Given the description of an element on the screen output the (x, y) to click on. 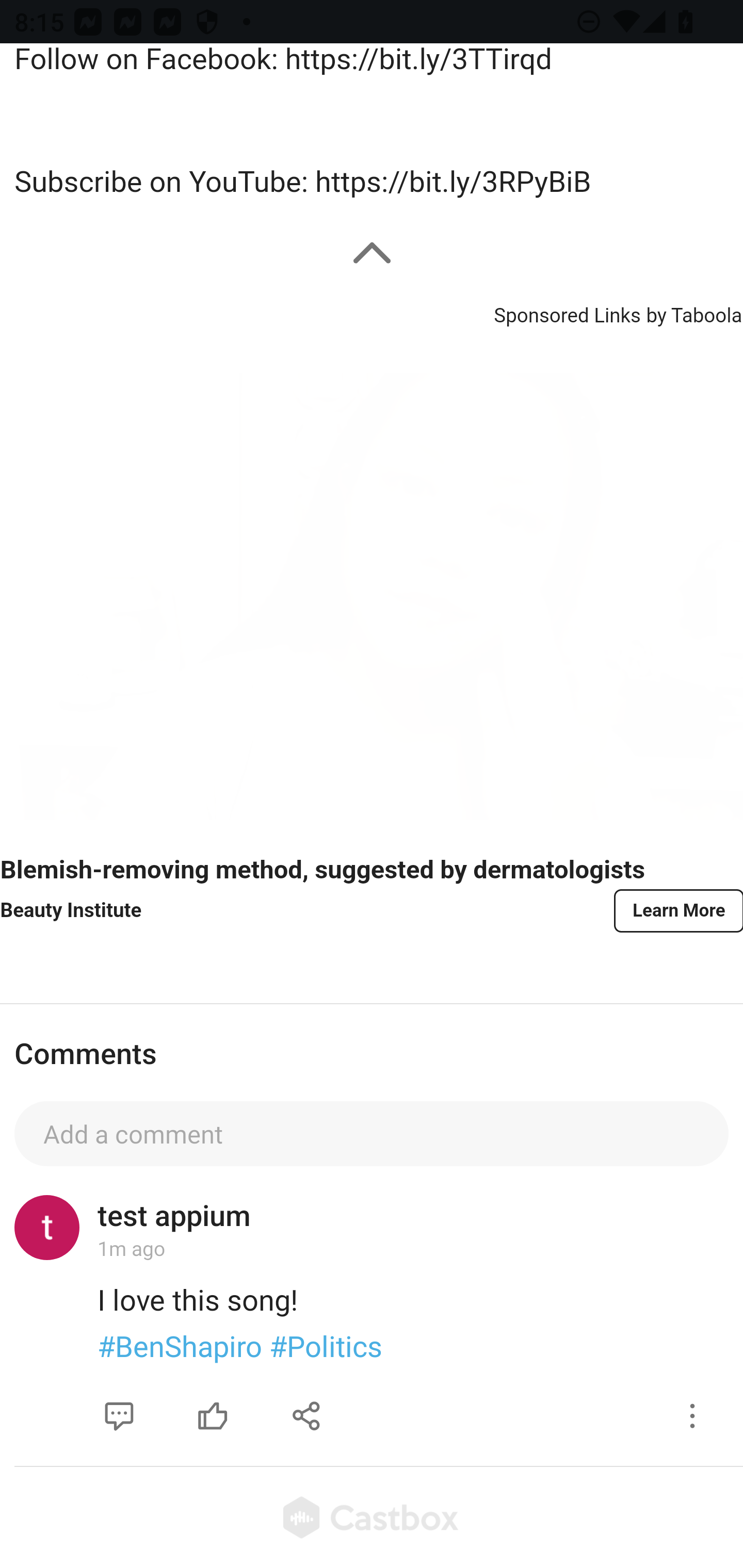
Sponsored Links (566, 313)
by Taboola (693, 313)
Learn More (677, 909)
Add a comment (371, 1133)
 (119, 1415)
 (212, 1415)
 (307, 1415)
 (692, 1415)
